Given the description of an element on the screen output the (x, y) to click on. 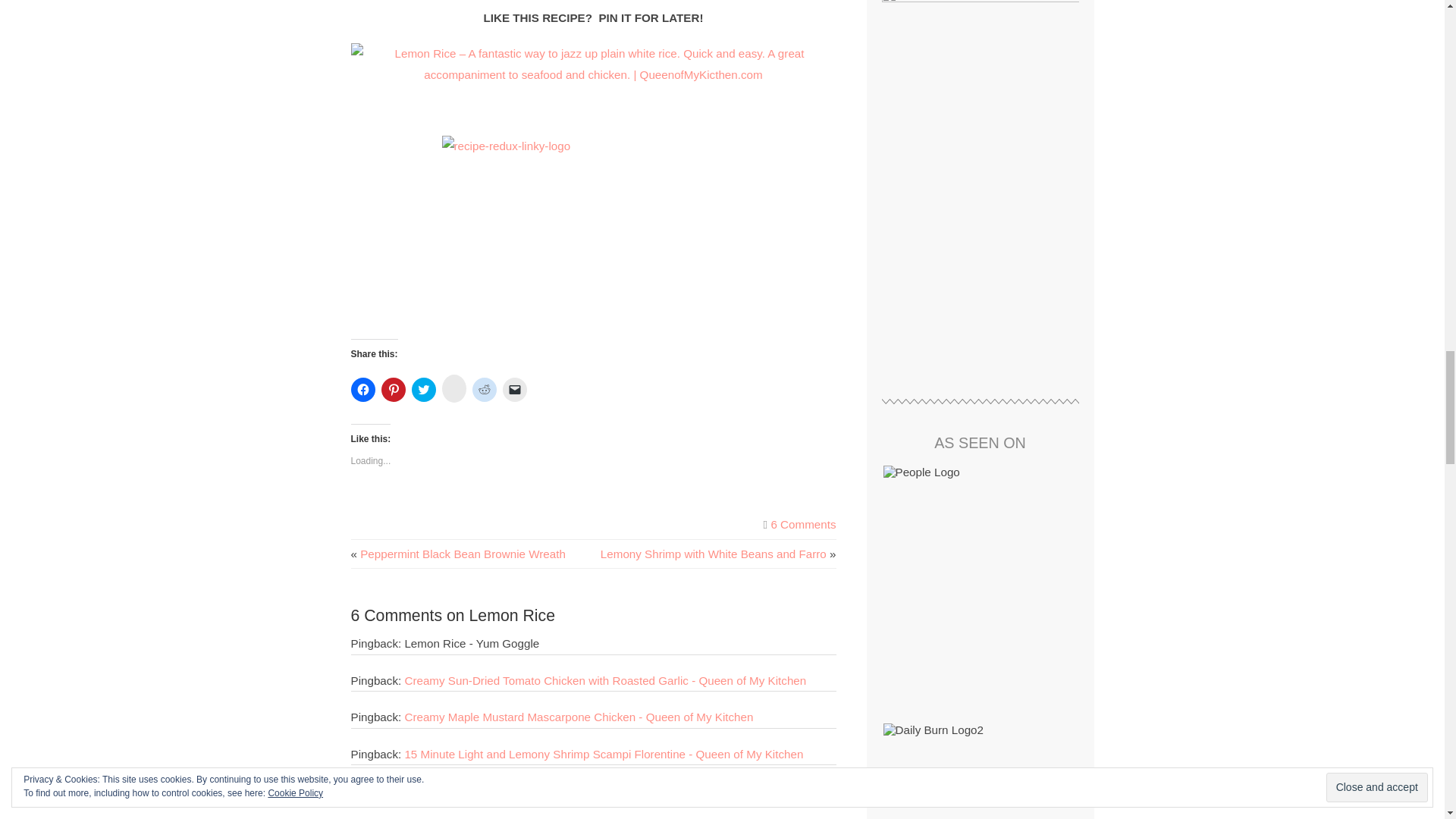
6 Comments (802, 523)
Click to share on Pinterest (392, 389)
Lemony Shrimp with White Beans and Farro (713, 553)
Click to share on Facebook (362, 389)
Click to email a link to a friend (513, 389)
Click to share on Twitter (422, 389)
Peppermint Black Bean Brownie Wreath (462, 553)
Click to share on Reddit (483, 389)
